Given the description of an element on the screen output the (x, y) to click on. 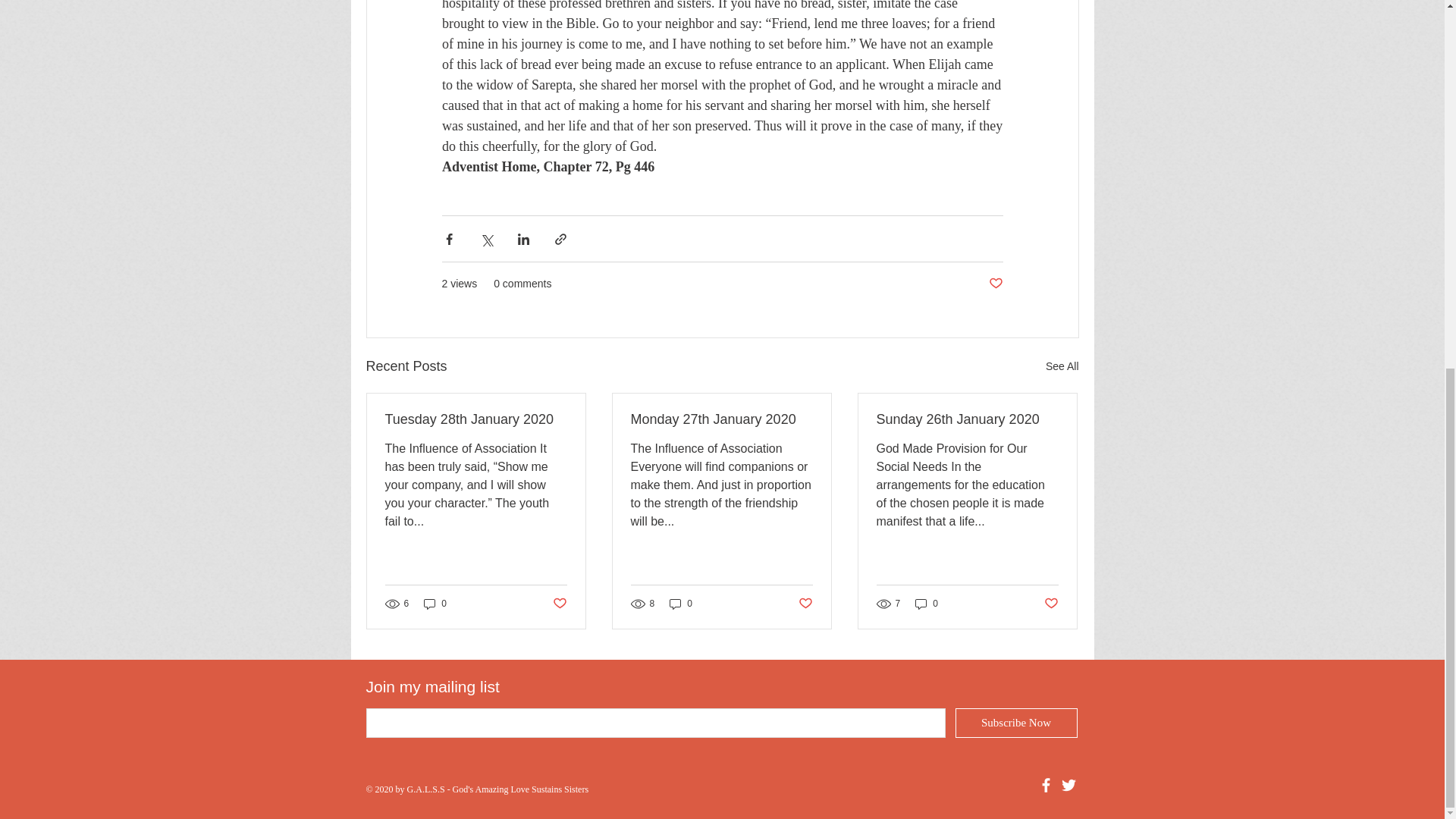
0 (926, 603)
Post not marked as liked (995, 283)
Monday 27th January 2020 (721, 419)
Sunday 26th January 2020 (967, 419)
Subscribe Now (1016, 722)
Post not marked as liked (804, 602)
Post not marked as liked (558, 602)
Tuesday 28th January 2020 (476, 419)
Post not marked as liked (1050, 602)
See All (1061, 366)
